Given the description of an element on the screen output the (x, y) to click on. 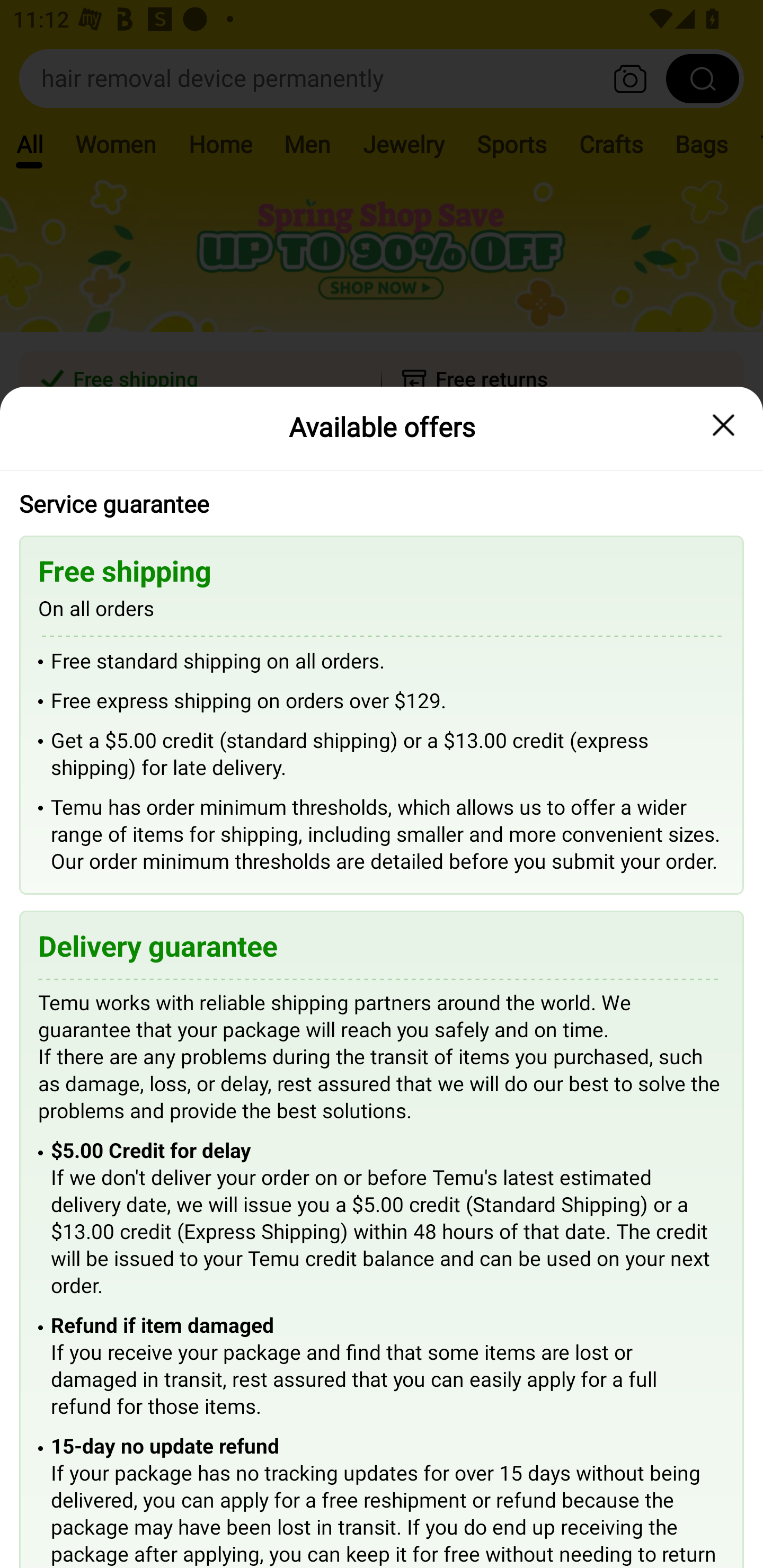
Lightning deals (379, 524)
